Given the description of an element on the screen output the (x, y) to click on. 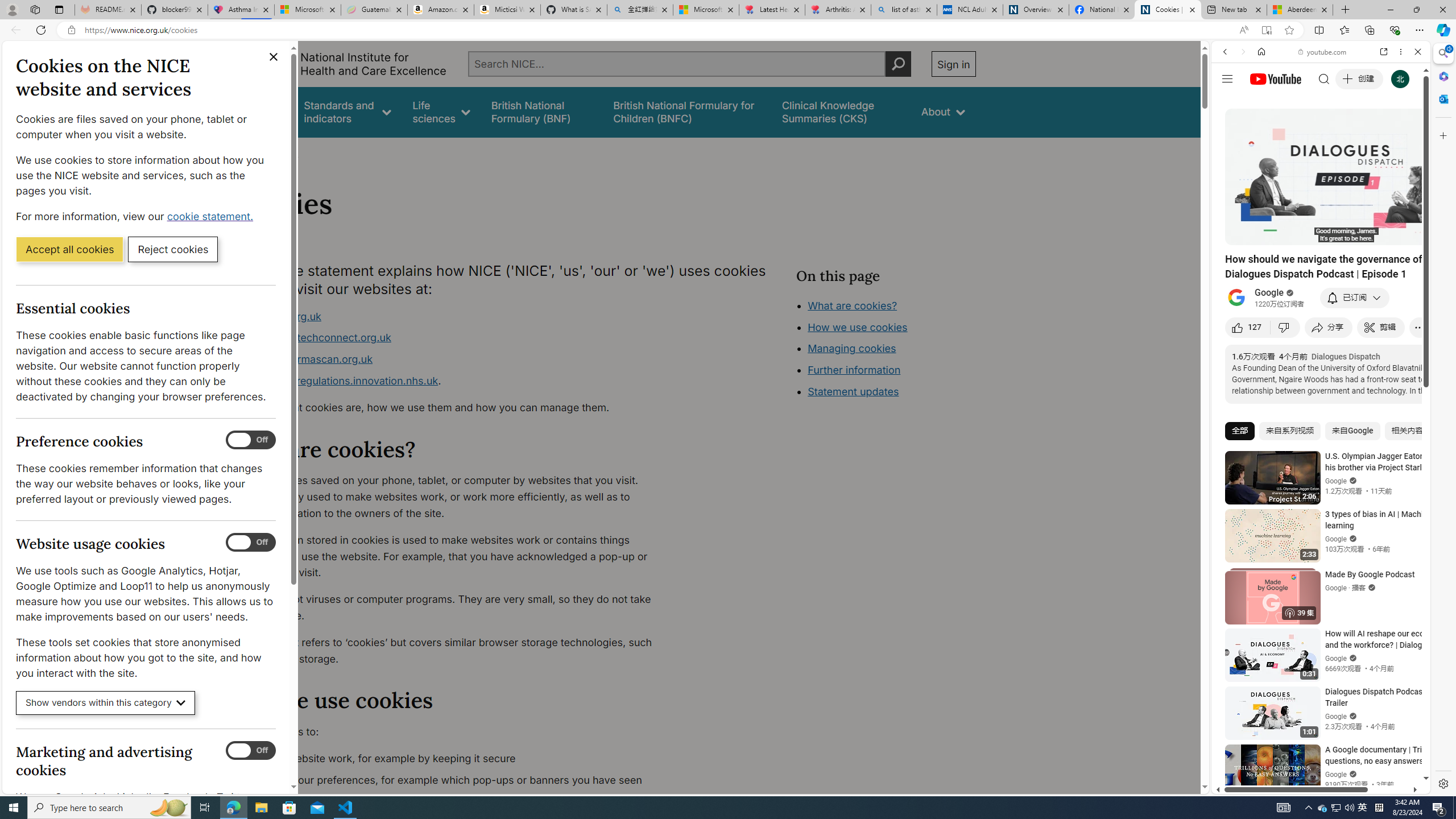
Search Filter, WEB (1230, 129)
Enter Immersive Reader (F9) (1266, 29)
Marketing and advertising cookies (250, 750)
